Given the description of an element on the screen output the (x, y) to click on. 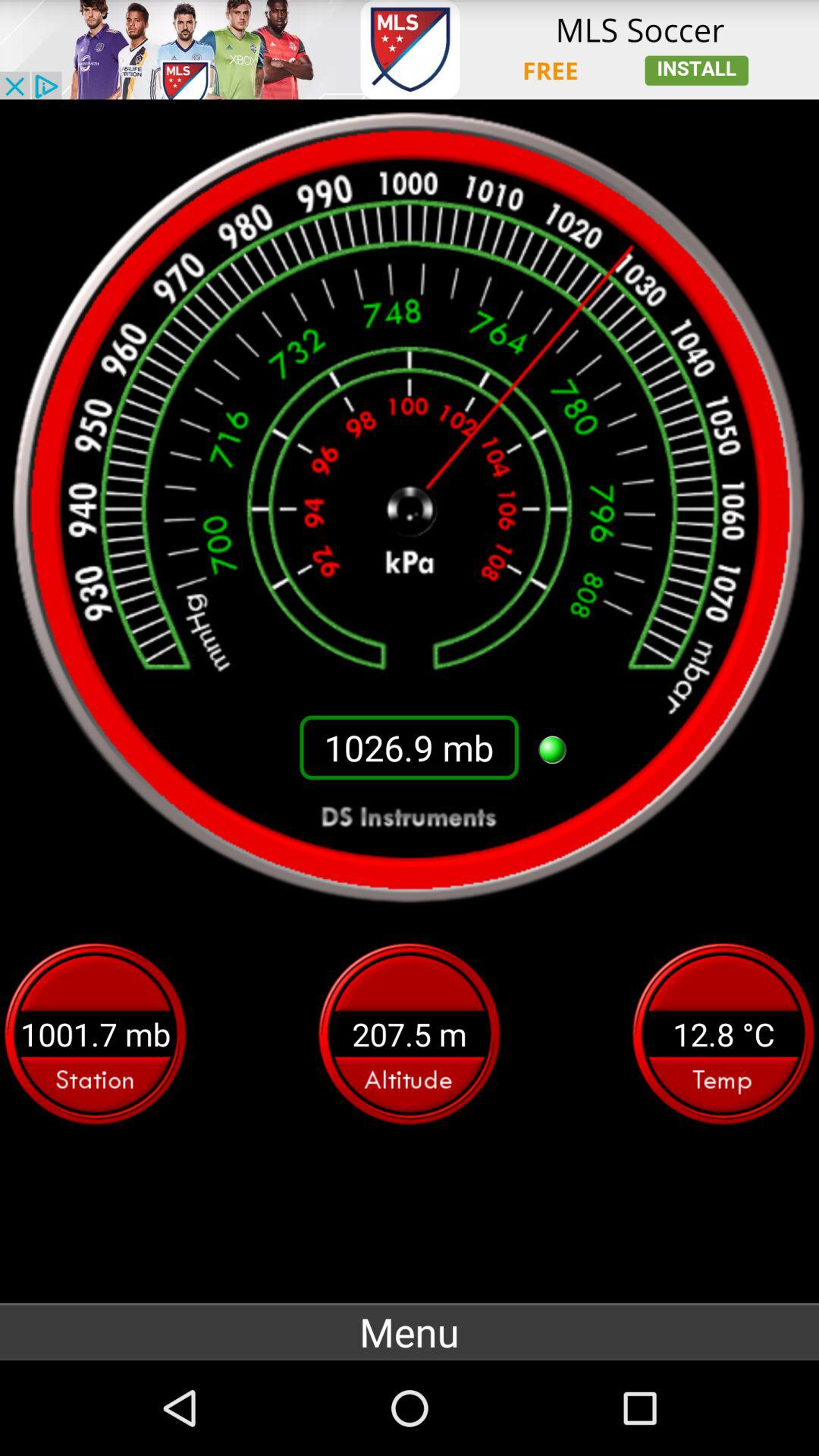
select advertisement (409, 49)
